Given the description of an element on the screen output the (x, y) to click on. 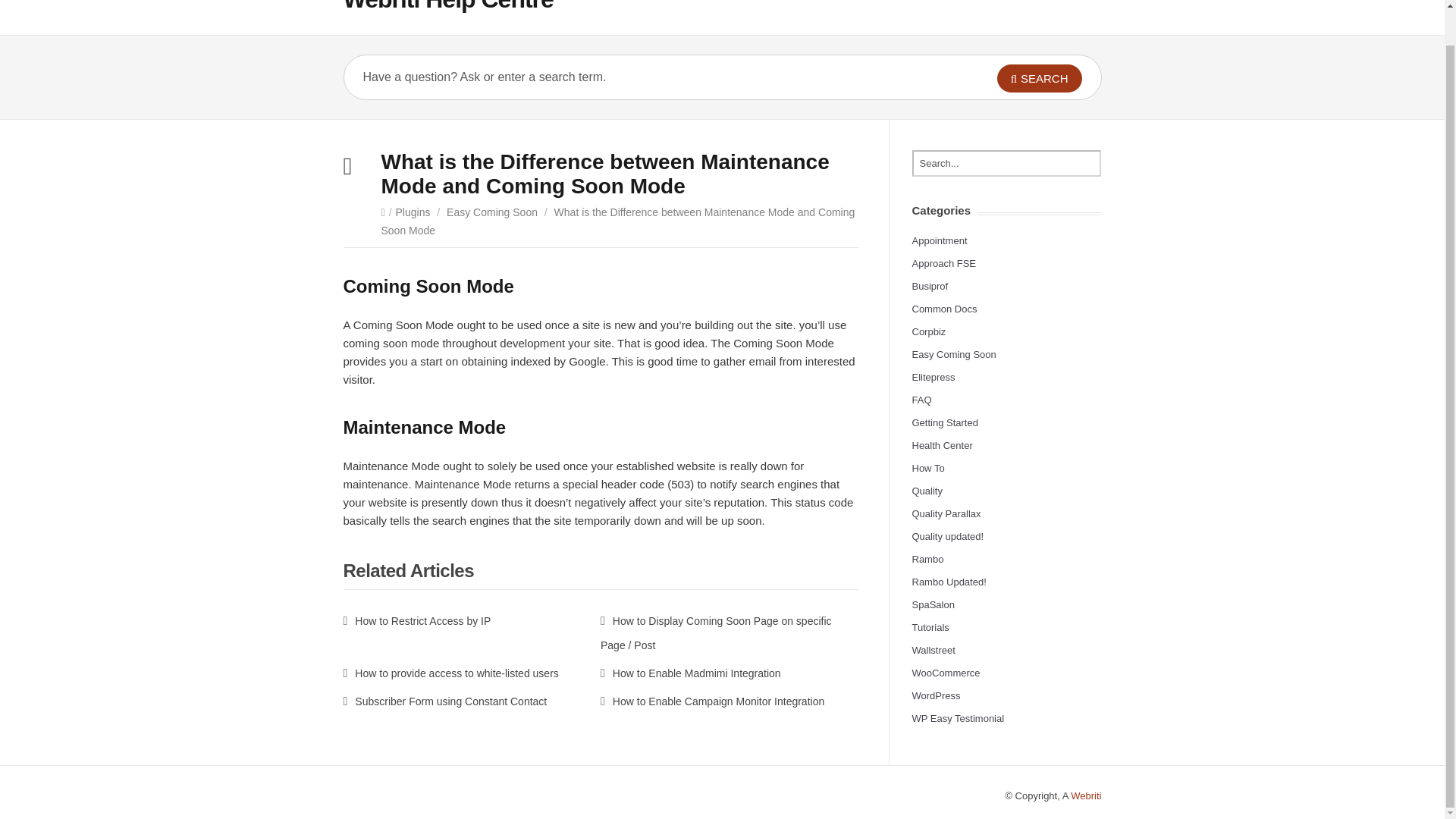
Quality Parallax (945, 513)
How to Enable Campaign Monitor Integration (711, 701)
Quality updated! (947, 536)
Webriti (1085, 795)
Appointment (938, 240)
How to Restrict Access by IP (416, 621)
Webriti Help Centre (447, 6)
How to provide access to white-listed users (449, 673)
How To (927, 468)
Webriti Help Centre (447, 6)
WP Easy Testimonial (957, 717)
How to Enable Madmimi Integration (689, 673)
Quality (926, 490)
How to provide access to white-listed users (449, 673)
Busiprof (929, 285)
